Given the description of an element on the screen output the (x, y) to click on. 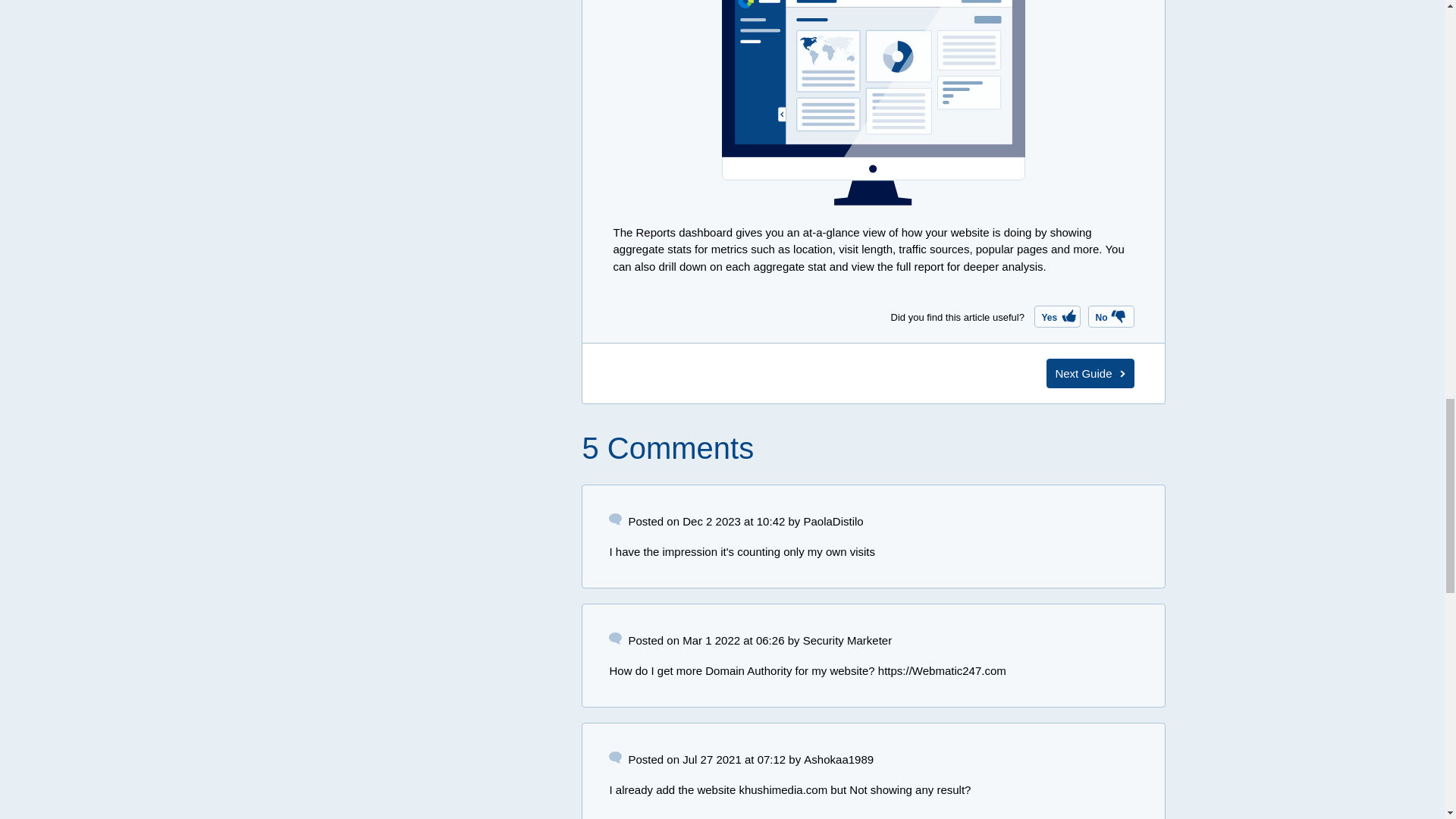
Install the mobile app and check your stats on the go. (1090, 373)
